Given the description of an element on the screen output the (x, y) to click on. 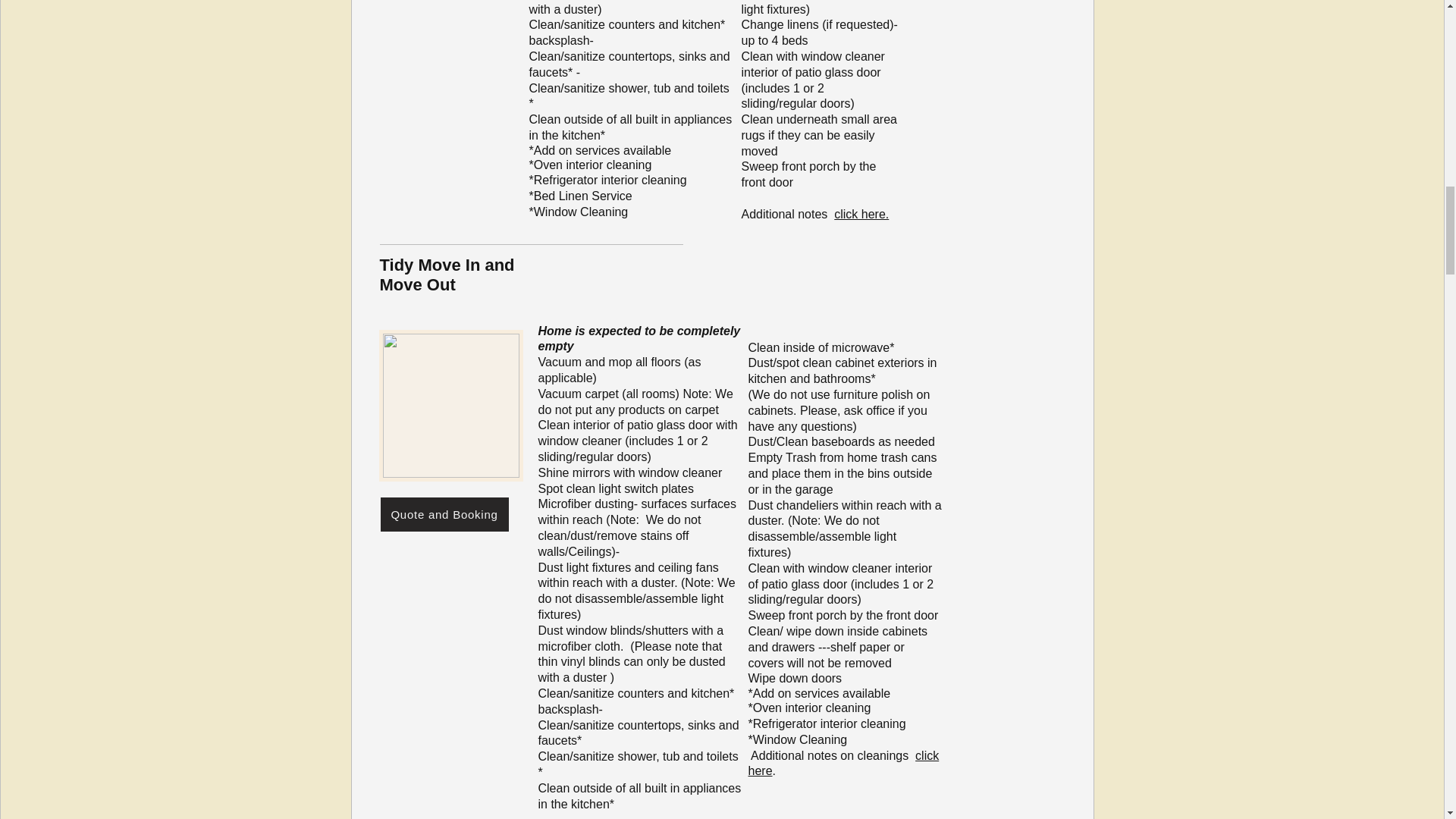
click here. (861, 214)
click here (843, 763)
Quote and Booking (444, 514)
